Given the description of an element on the screen output the (x, y) to click on. 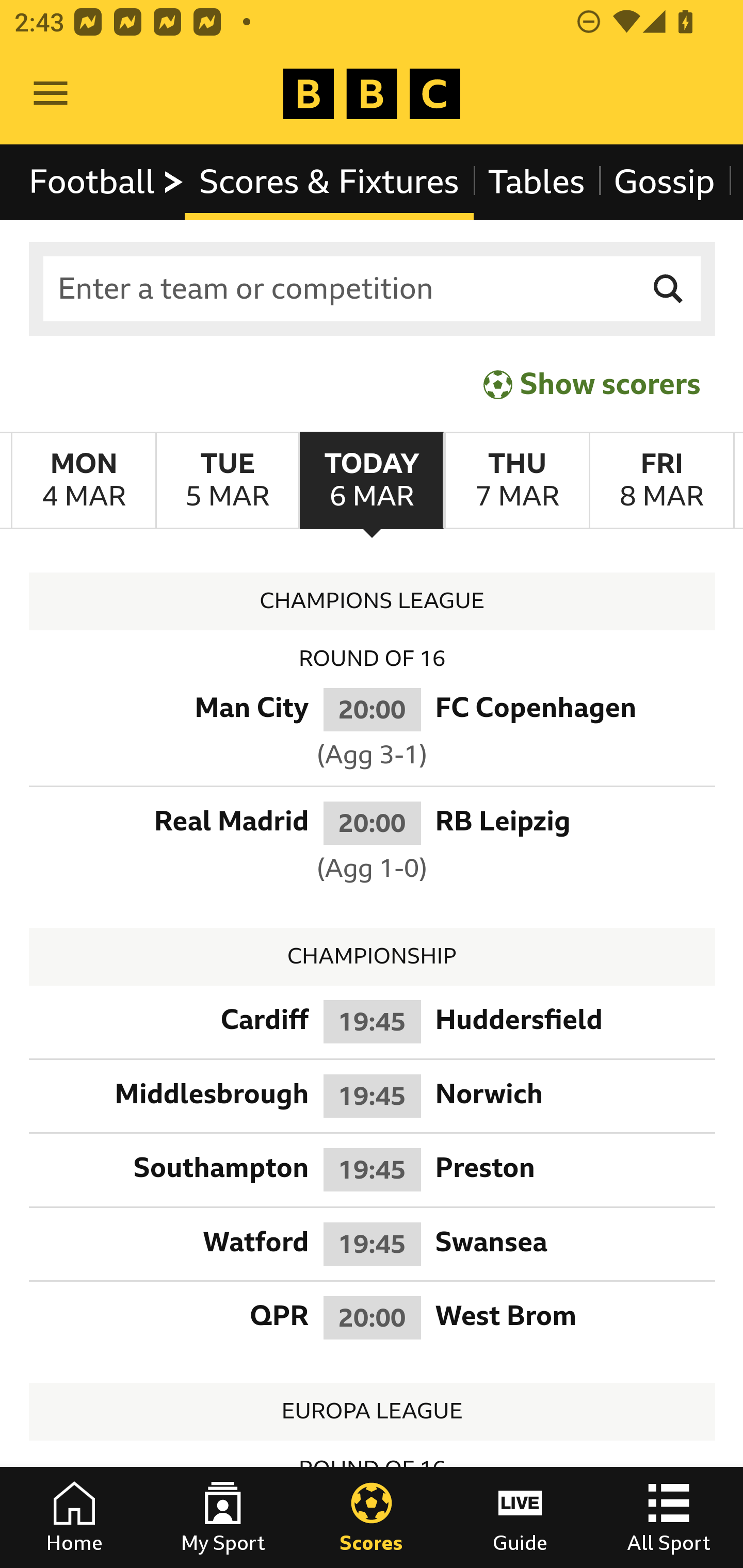
Open Menu (50, 93)
Football  (106, 181)
Scores & Fixtures (329, 181)
Tables (536, 181)
Gossip (664, 181)
Search (669, 289)
Show scorers (591, 383)
MondayMarch 4th Monday March 4th (83, 480)
TuesdayMarch 5th Tuesday March 5th (227, 480)
ThursdayMarch 7th Thursday March 7th (516, 480)
FridayMarch 8th Friday March 8th (661, 480)
Home (74, 1517)
My Sport (222, 1517)
Guide (519, 1517)
All Sport (668, 1517)
